Given the description of an element on the screen output the (x, y) to click on. 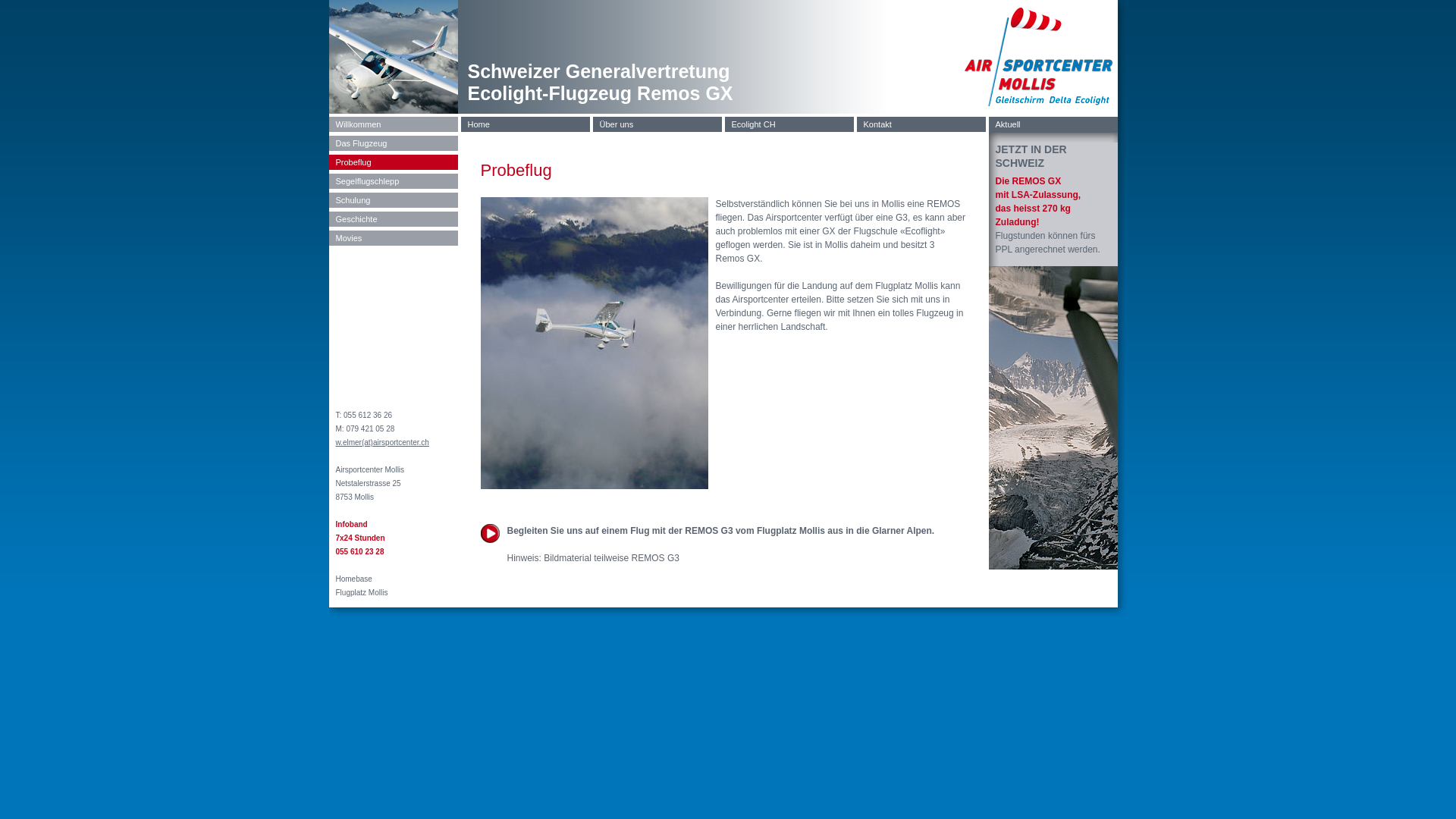
Geschichte Element type: text (393, 218)
Willkommen Element type: text (393, 123)
Probeflug Element type: text (393, 161)
Home Element type: text (525, 123)
Das Flugzeug Element type: text (393, 142)
Movies Element type: text (393, 237)
Ecolight CH Element type: text (788, 123)
w.elmer(at)airsportcenter.ch Element type: text (381, 442)
Kontakt Element type: text (920, 123)
Segelflugschlepp Element type: text (393, 180)
Schulung Element type: text (393, 199)
